Given the description of an element on the screen output the (x, y) to click on. 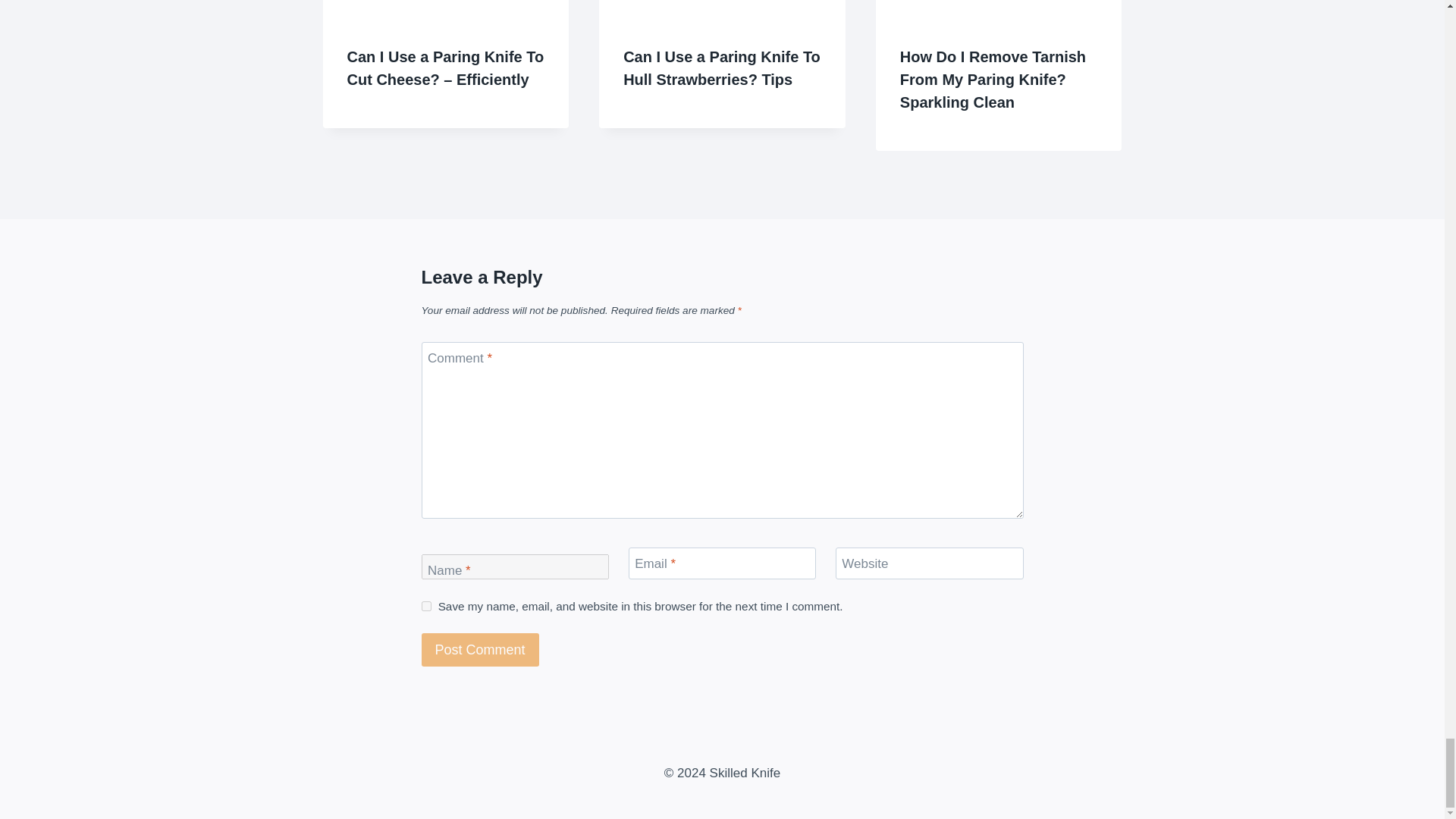
Post Comment (480, 649)
yes (426, 605)
Can I Use a Paring Knife To Hull Strawberries? Tips (722, 67)
